Given the description of an element on the screen output the (x, y) to click on. 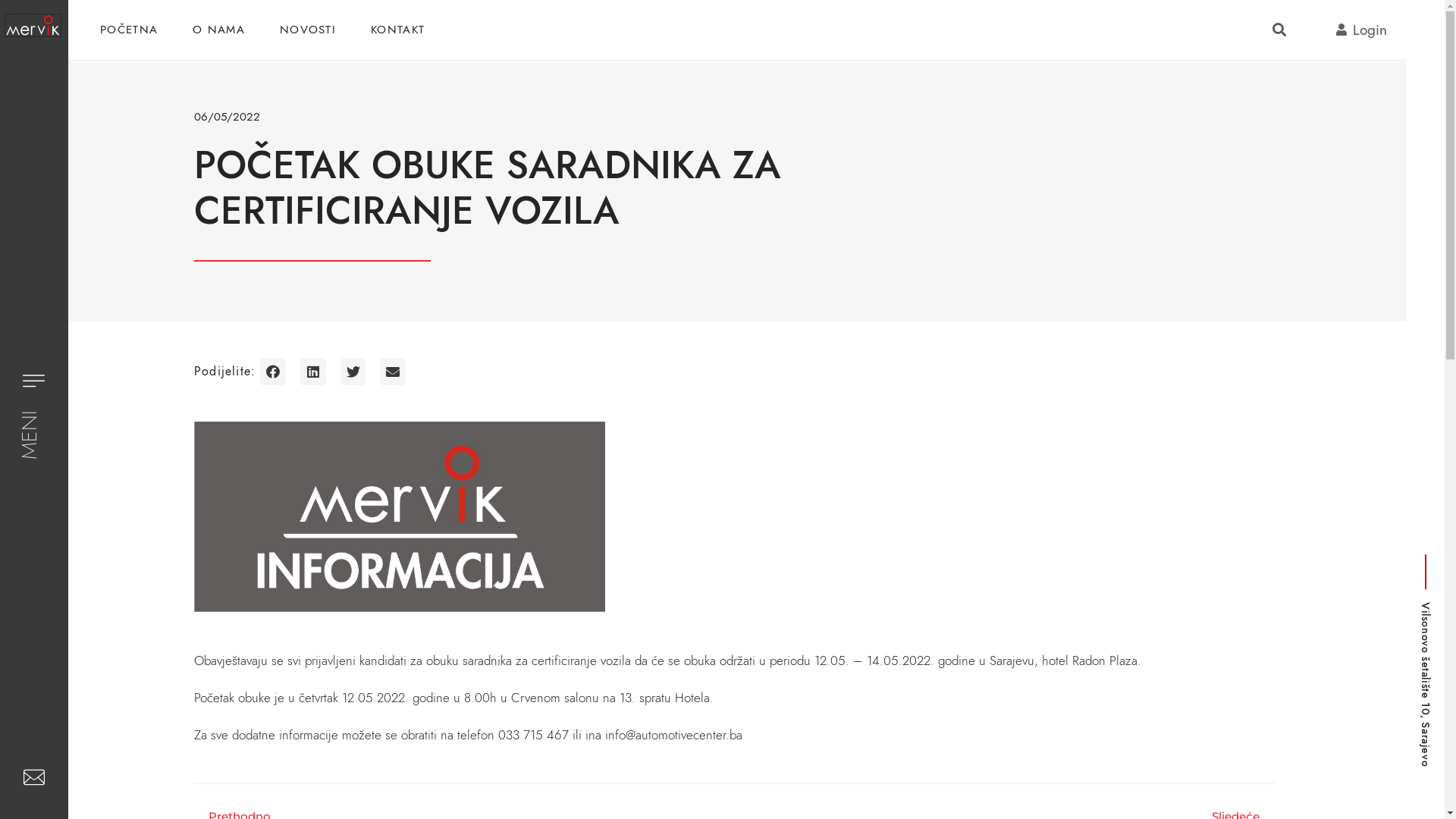
MENI Element type: text (37, 425)
Search Element type: hover (1275, 29)
KONTAKT Element type: text (397, 29)
NOVOSTI Element type: text (307, 29)
Login Element type: text (1339, 29)
O NAMA Element type: text (218, 29)
